Given the description of an element on the screen output the (x, y) to click on. 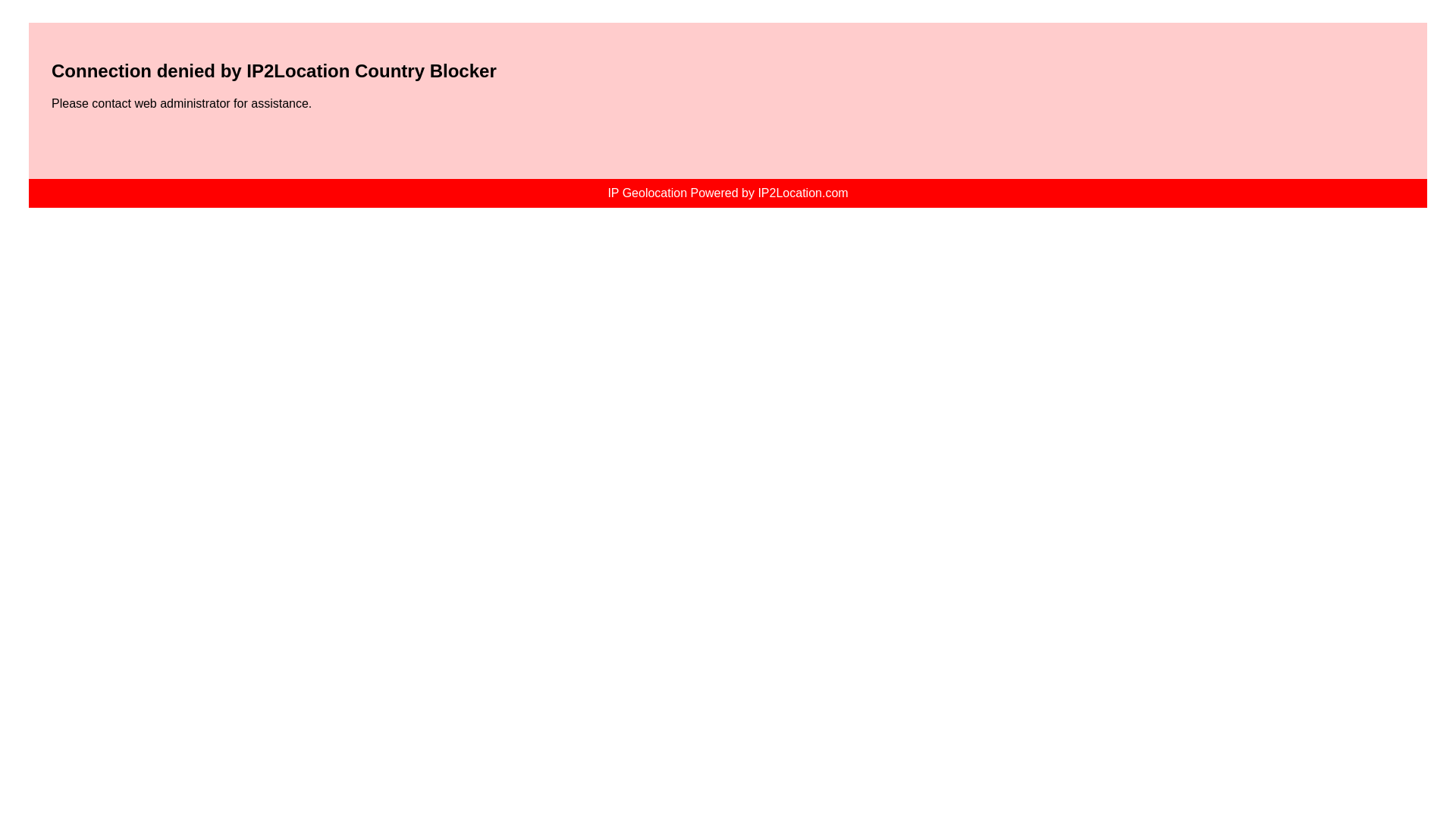
IP Geolocation Powered by IP2Location.com (727, 192)
